Given the description of an element on the screen output the (x, y) to click on. 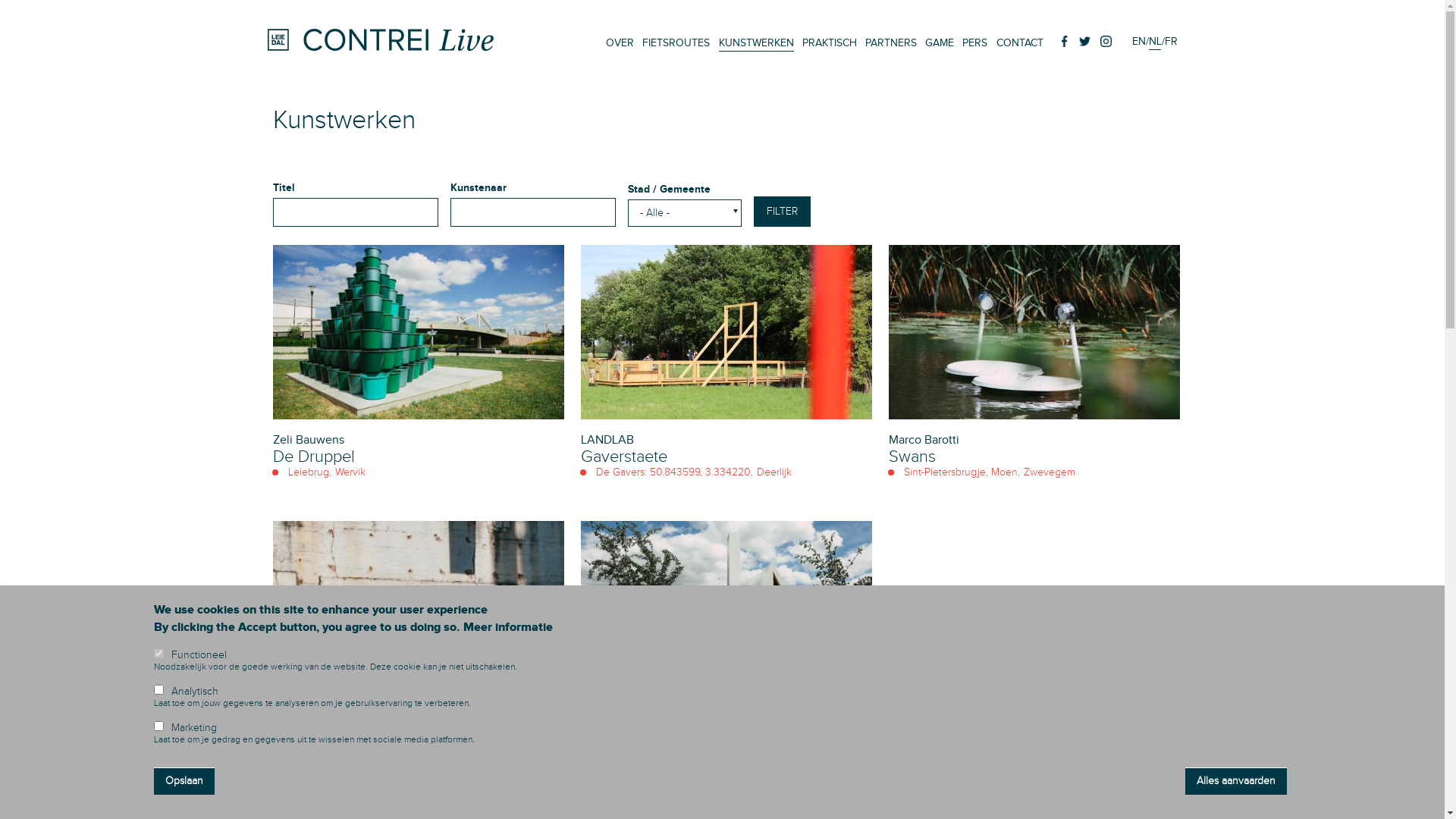
Top Down Bottom Up Element type: text (350, 732)
De Druppel Element type: text (313, 456)
Meershuisje Element type: text (623, 732)
NL/ Element type: text (1156, 41)
PERS Element type: text (974, 43)
Deerlijk Element type: text (773, 472)
PARTNERS Element type: text (890, 43)
Opslaan Element type: text (183, 780)
Meer informatie Element type: text (507, 626)
CONTACT Element type: text (1019, 43)
Zwevegem Element type: text (1049, 472)
Zwevegem Element type: text (353, 748)
Overslaan en naar de inhoud gaan Element type: text (0, 0)
Alles aanvaarden Element type: text (1235, 780)
PRAKTISCH Element type: text (829, 43)
EN/ Element type: text (1139, 41)
Home Element type: hover (380, 47)
Wervik Element type: text (350, 472)
FIETSROUTES Element type: text (675, 43)
OVER Element type: text (619, 43)
Filter Element type: text (781, 211)
GAME Element type: text (939, 43)
Menen Element type: text (991, 749)
FR Element type: text (1170, 41)
Waregem Element type: text (727, 748)
KUNSTWERKEN Element type: text (755, 43)
Toestemming intrekken Element type: text (1332, 774)
Gaverstaete Element type: text (623, 456)
Swans Element type: text (911, 456)
